Given the description of an element on the screen output the (x, y) to click on. 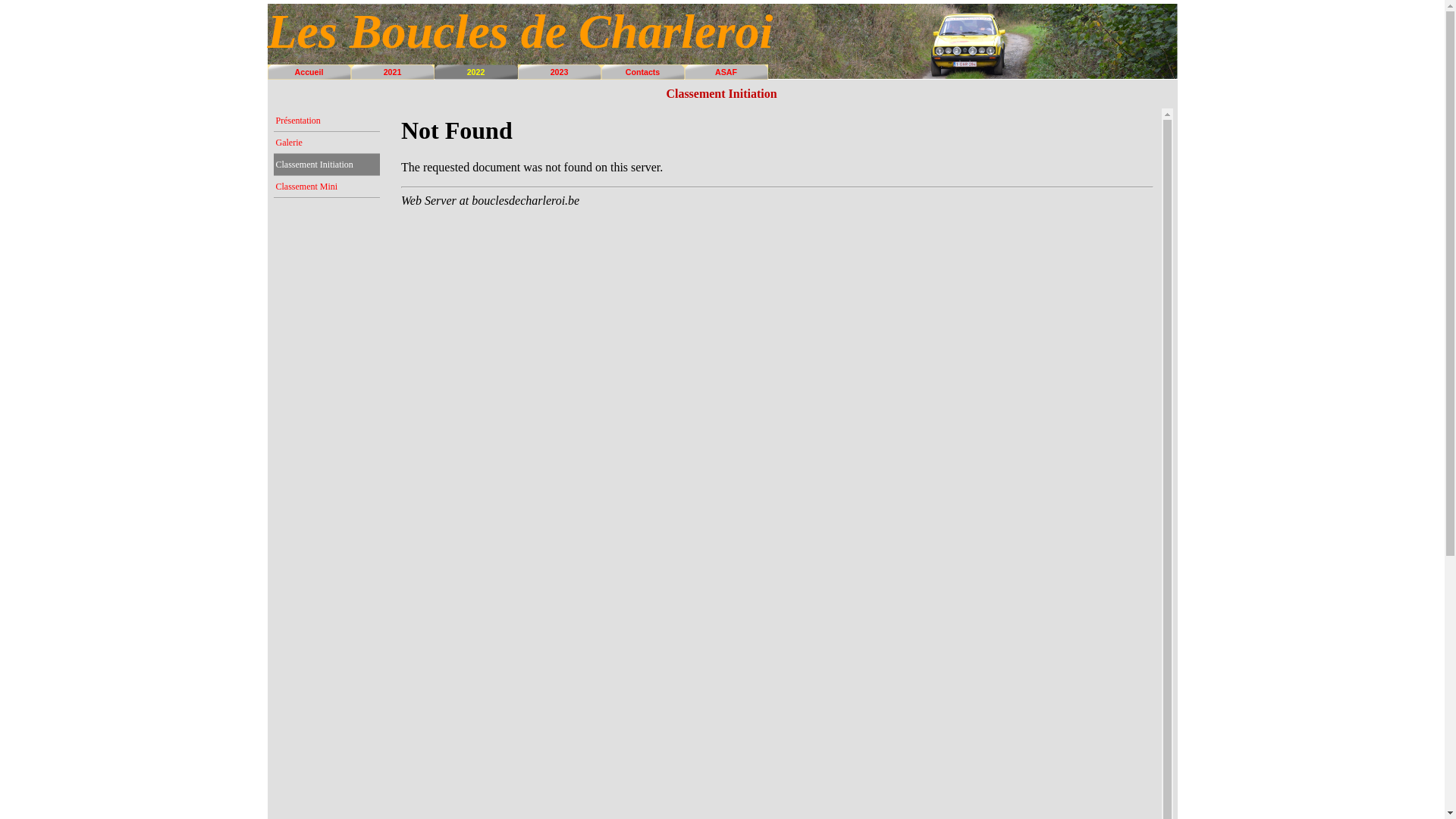
Classement Initiation Element type: text (326, 164)
Galerie Element type: text (326, 142)
ASAF Element type: text (726, 71)
Classement Mini Element type: text (326, 186)
Accueil Element type: text (308, 71)
Contacts Element type: text (642, 71)
